Given the description of an element on the screen output the (x, y) to click on. 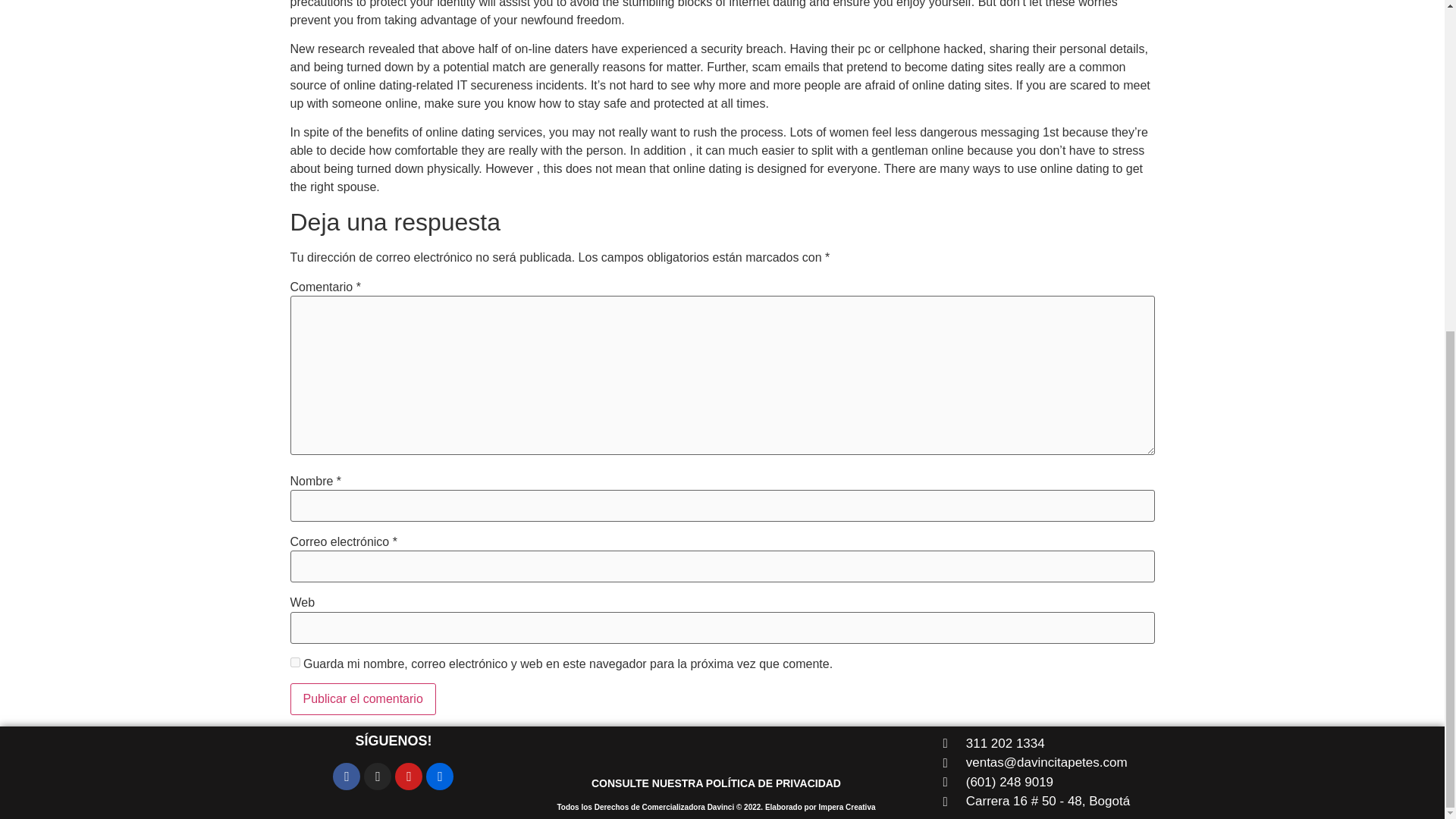
311 202 1334 (1042, 743)
yes (294, 662)
Publicar el comentario (362, 698)
Publicar el comentario (362, 698)
